Given the description of an element on the screen output the (x, y) to click on. 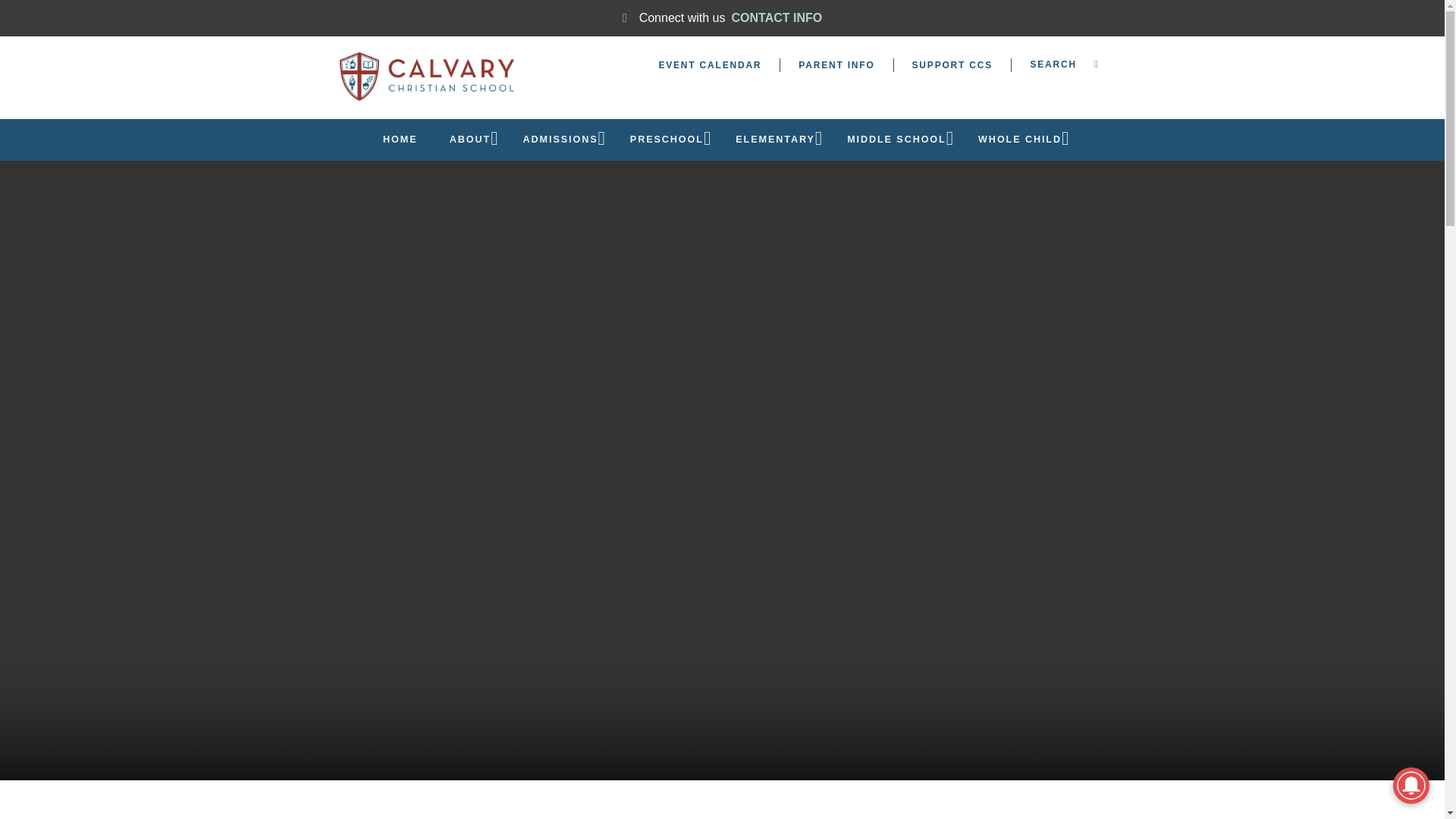
Event Calendar (709, 64)
Support CCS (952, 64)
Connect with usCONTACT INFO (722, 18)
SUPPORT CCS (952, 64)
EVENT CALENDAR (709, 64)
PARENT INFO (836, 64)
Parent Info (836, 64)
